Given the description of an element on the screen output the (x, y) to click on. 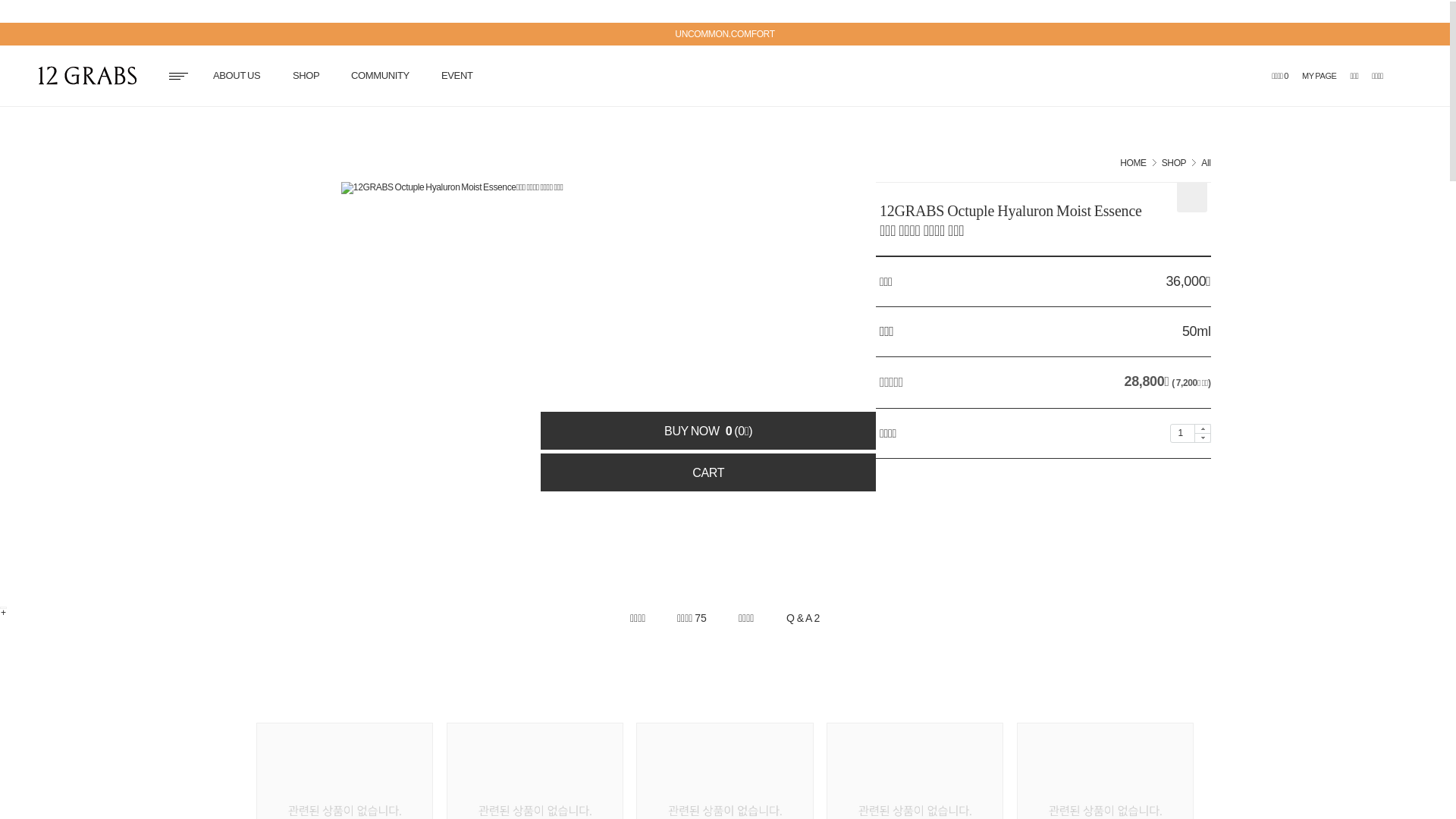
+ Element type: text (3, 607)
EVENT Element type: text (457, 75)
All Element type: text (1205, 162)
ABOUT US Element type: text (236, 75)
SHOP Element type: text (1173, 162)
UNCOMMON.COMFORT Element type: text (724, 33)
SHOP Element type: text (305, 75)
MY PAGE Element type: text (1319, 75)
CART Element type: text (707, 472)
HOME Element type: text (1133, 162)
  Element type: text (90, 76)
Q & A 2 Element type: text (803, 618)
COMMUNITY Element type: text (379, 75)
